Given the description of an element on the screen output the (x, y) to click on. 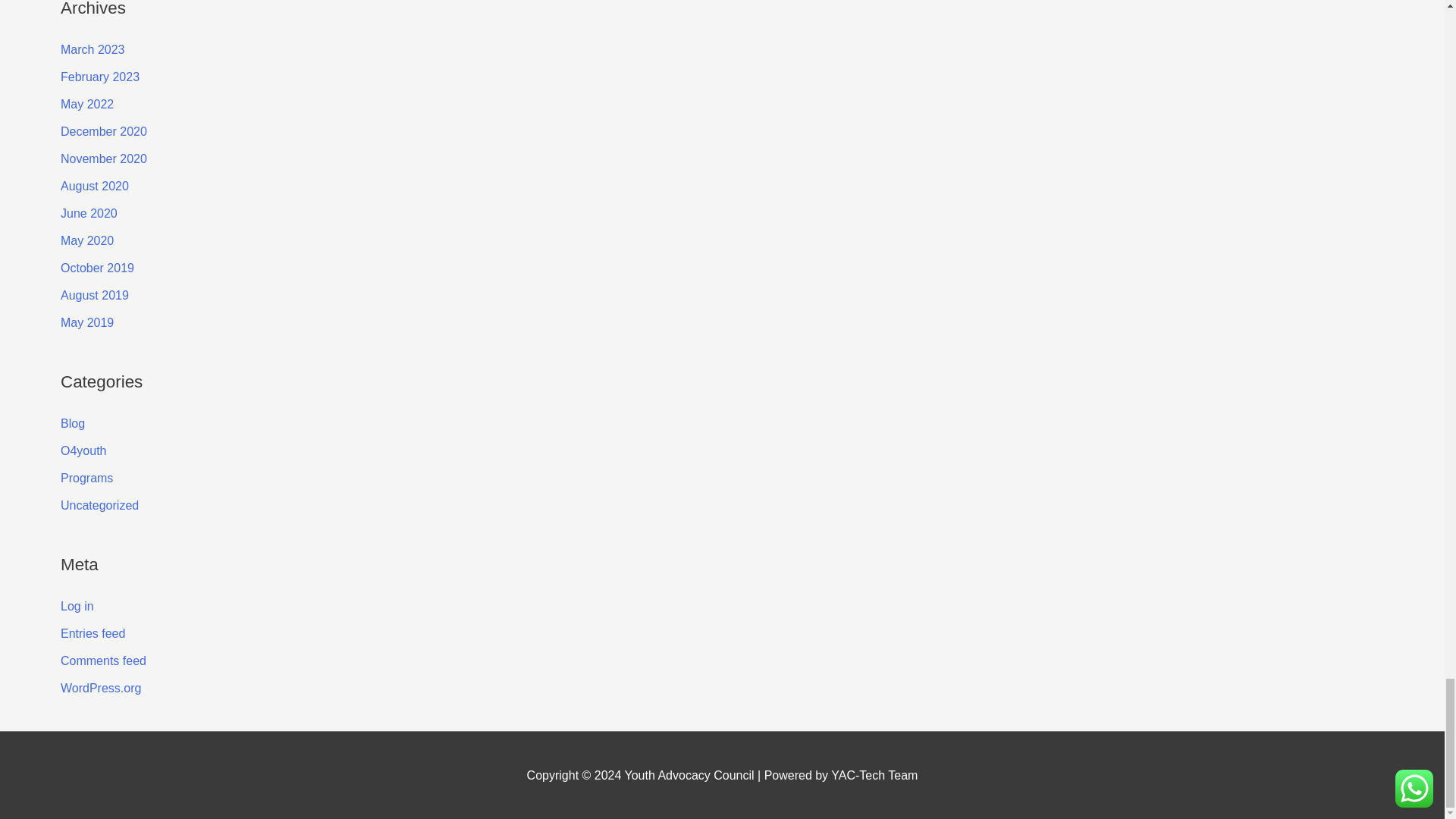
February 2023 (100, 76)
October 2019 (97, 267)
December 2020 (104, 131)
May 2022 (87, 103)
May 2020 (87, 240)
August 2019 (95, 295)
March 2023 (93, 49)
November 2020 (104, 158)
June 2020 (89, 213)
August 2020 (95, 185)
